Given the description of an element on the screen output the (x, y) to click on. 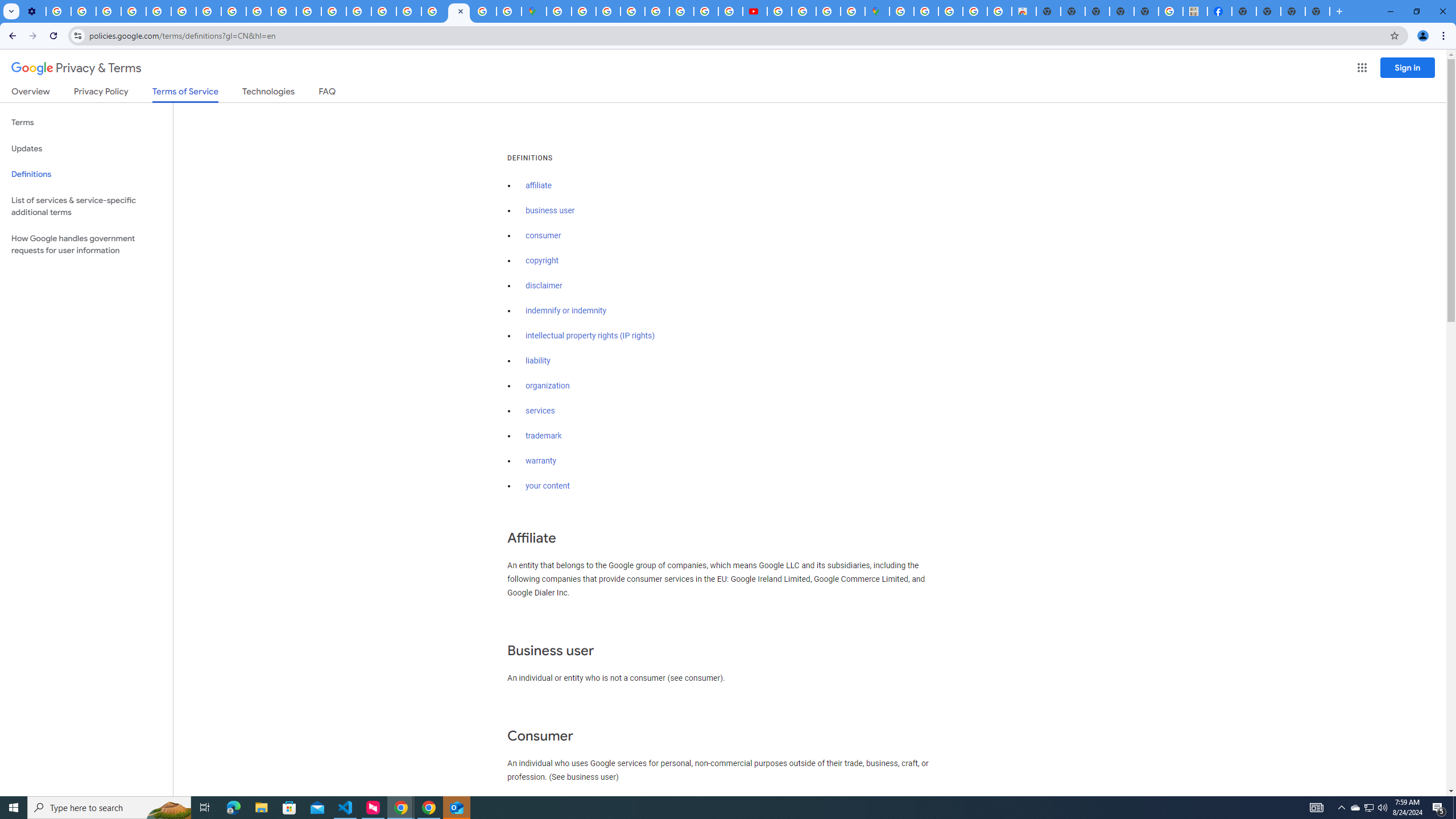
Miley Cyrus | Facebook (1219, 11)
intellectual property rights (IP rights) (590, 335)
Google Maps (876, 11)
copyright (542, 260)
Subscriptions - YouTube (754, 11)
Sign in - Google Accounts (558, 11)
